Given the description of an element on the screen output the (x, y) to click on. 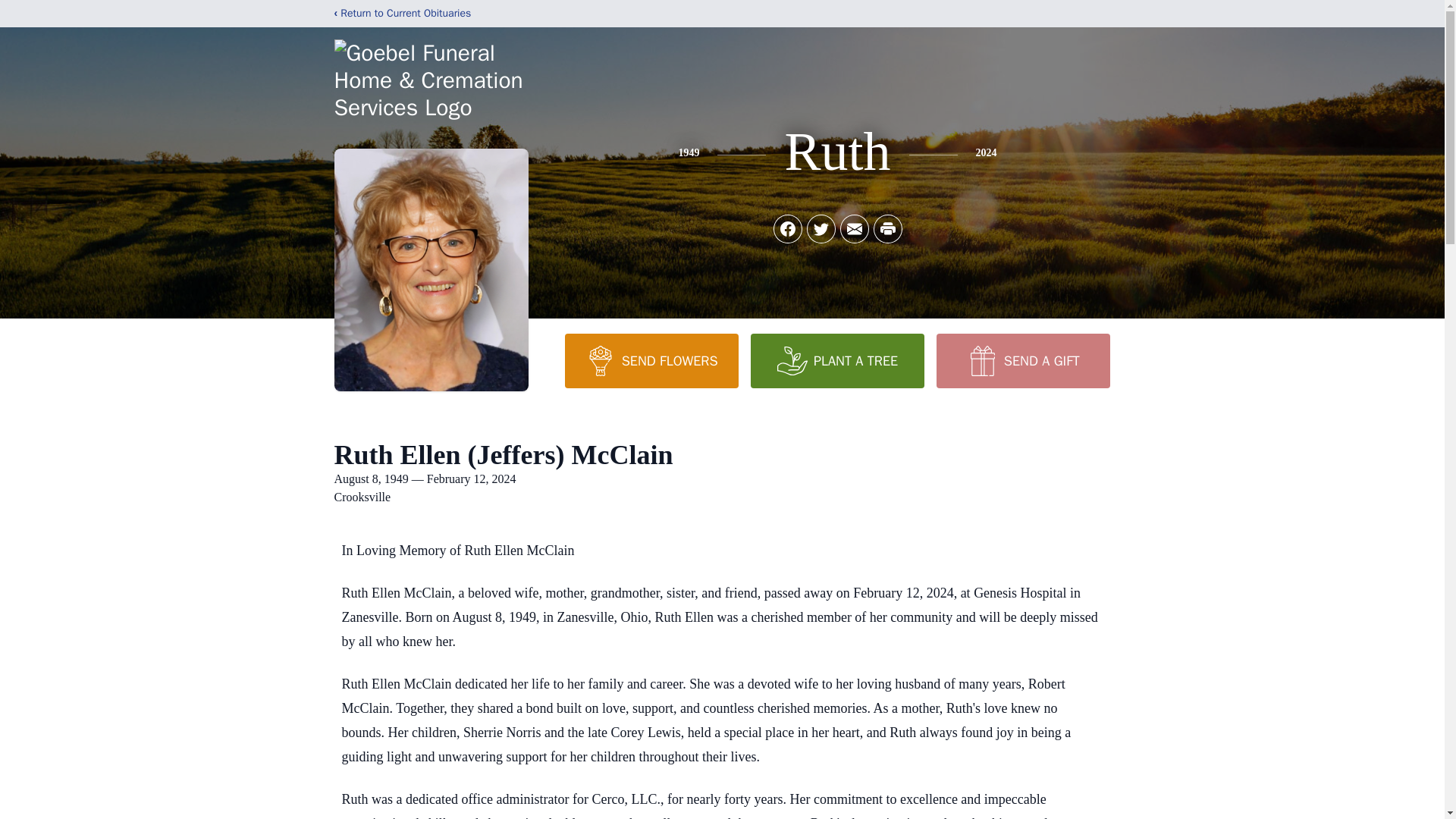
SEND FLOWERS (651, 360)
SEND A GIFT (1022, 360)
PLANT A TREE (837, 360)
